Given the description of an element on the screen output the (x, y) to click on. 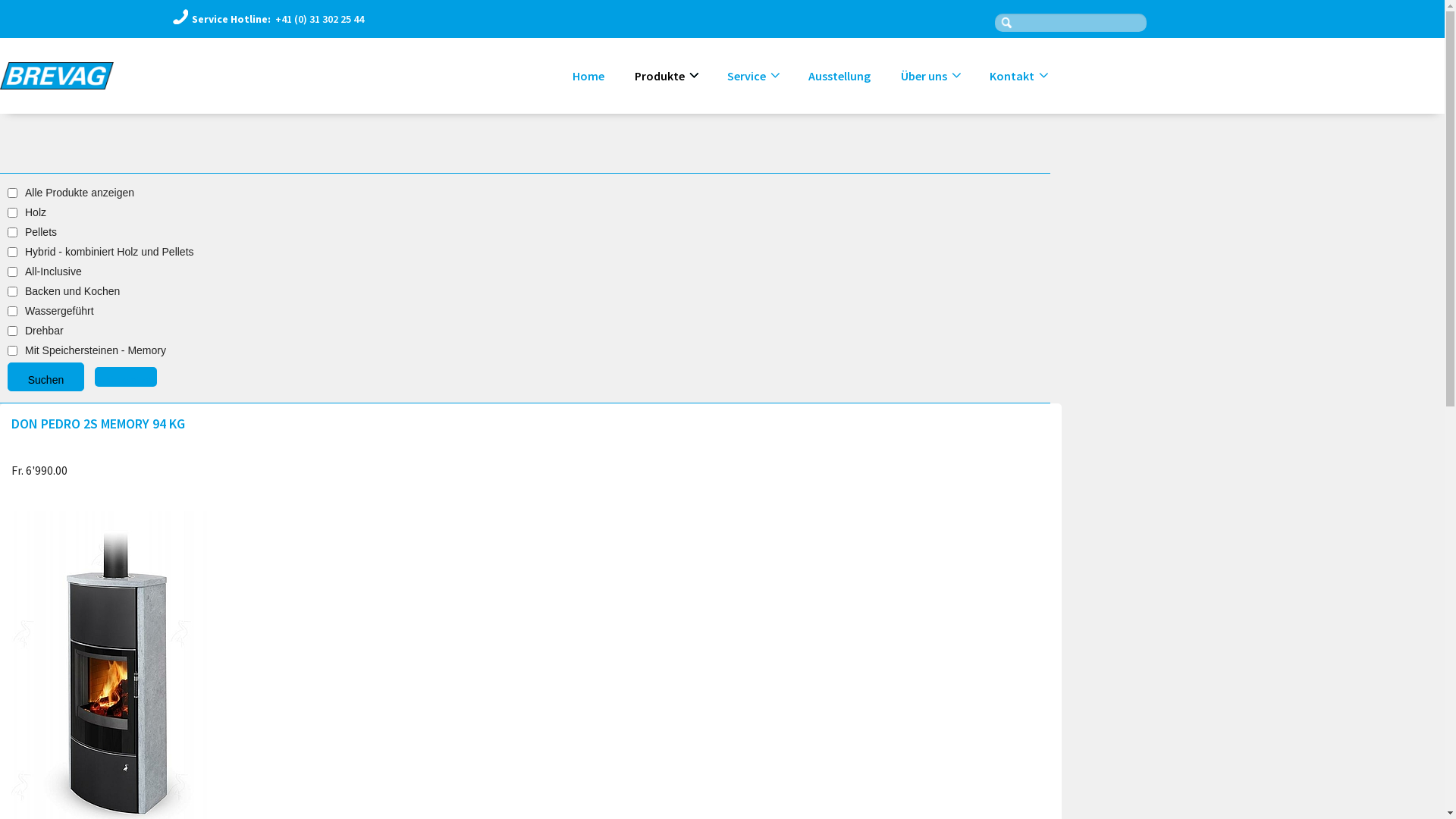
Brevag AG Element type: hover (56, 75)
+41 (0) 31 302 25 44 Element type: text (318, 18)
Suchen Element type: text (45, 376)
Ausstellung Element type: text (839, 75)
Service Element type: text (752, 75)
Produkte Element type: text (665, 75)
Kontakt Element type: text (1017, 75)
Home Element type: text (588, 75)
